Given the description of an element on the screen output the (x, y) to click on. 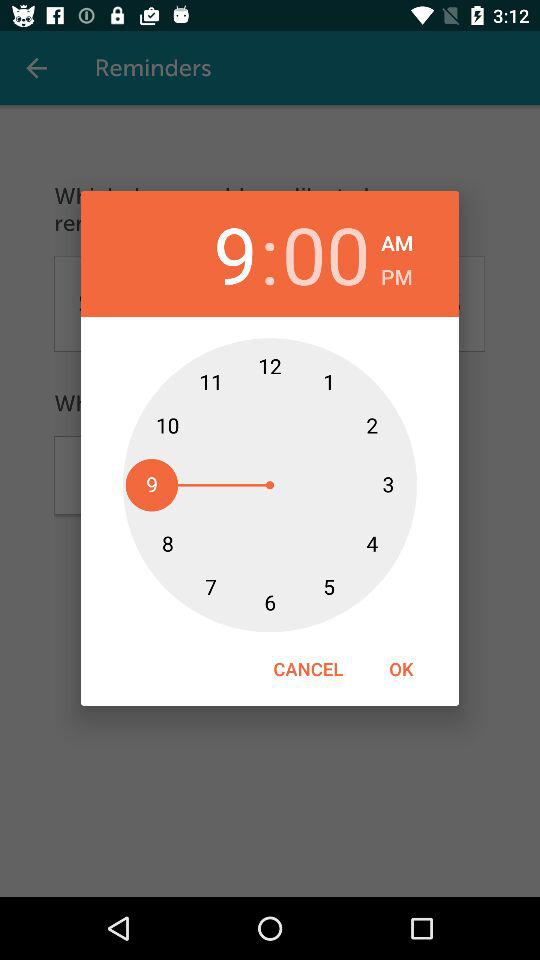
open the item next to the 00 (397, 240)
